Given the description of an element on the screen output the (x, y) to click on. 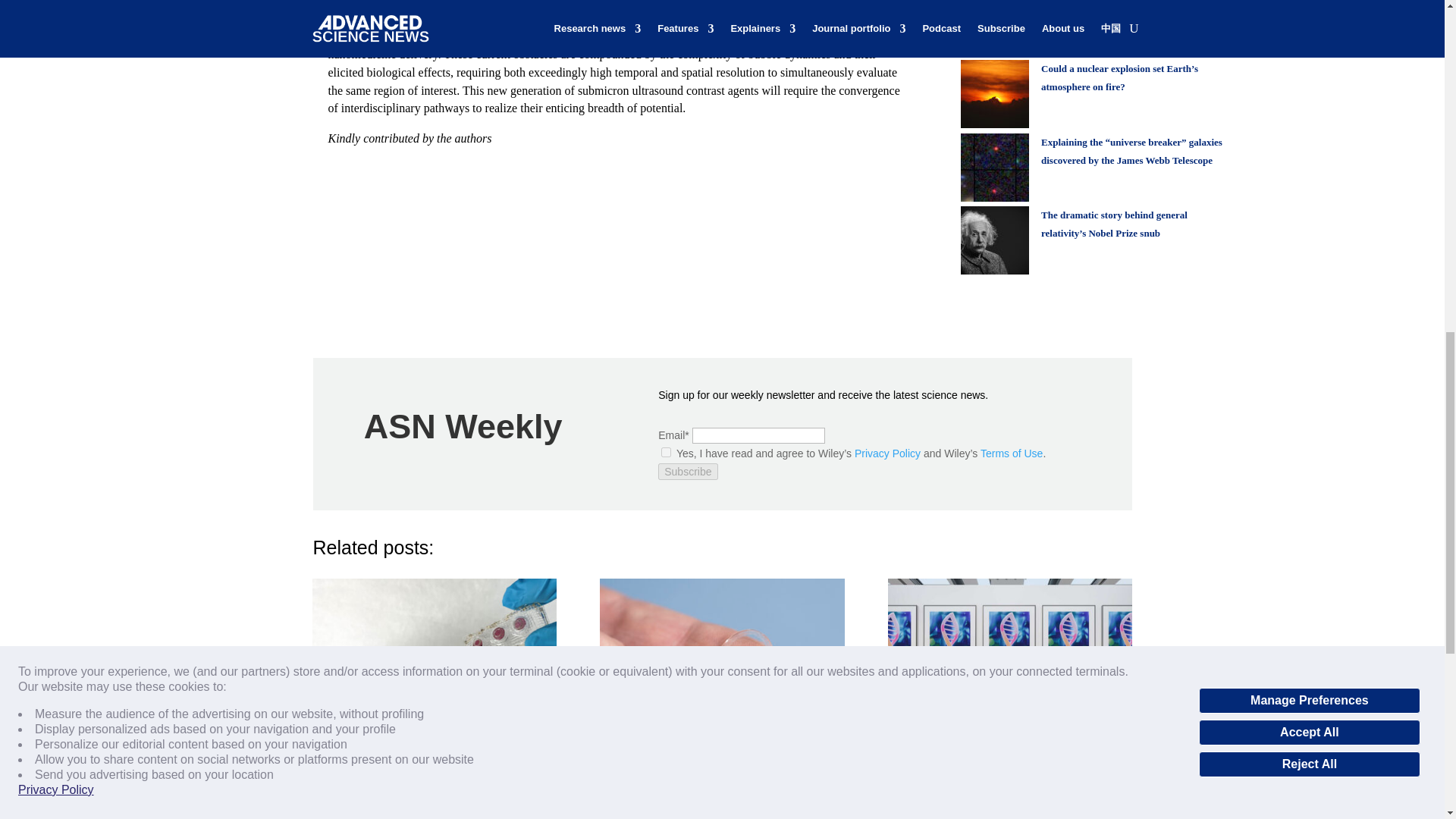
true (666, 452)
